Given the description of an element on the screen output the (x, y) to click on. 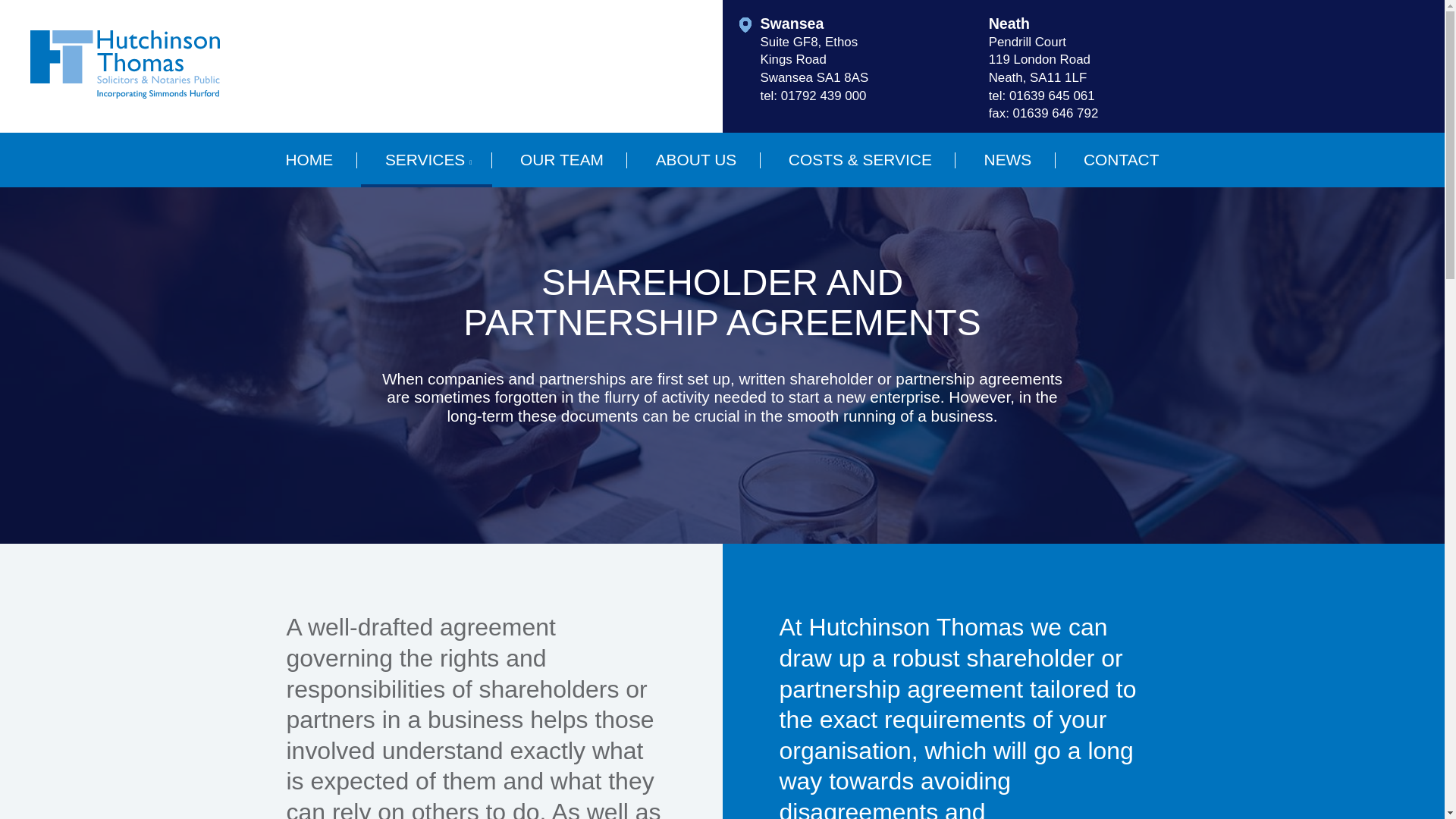
HOME (309, 159)
tel: 01792 439 000 (862, 95)
tel: 01639 645 061 (1090, 95)
Hutchinson Thomas Solicitors (124, 64)
SERVICES (426, 159)
Hutchinson Thomas Solicitors (124, 94)
